Given the description of an element on the screen output the (x, y) to click on. 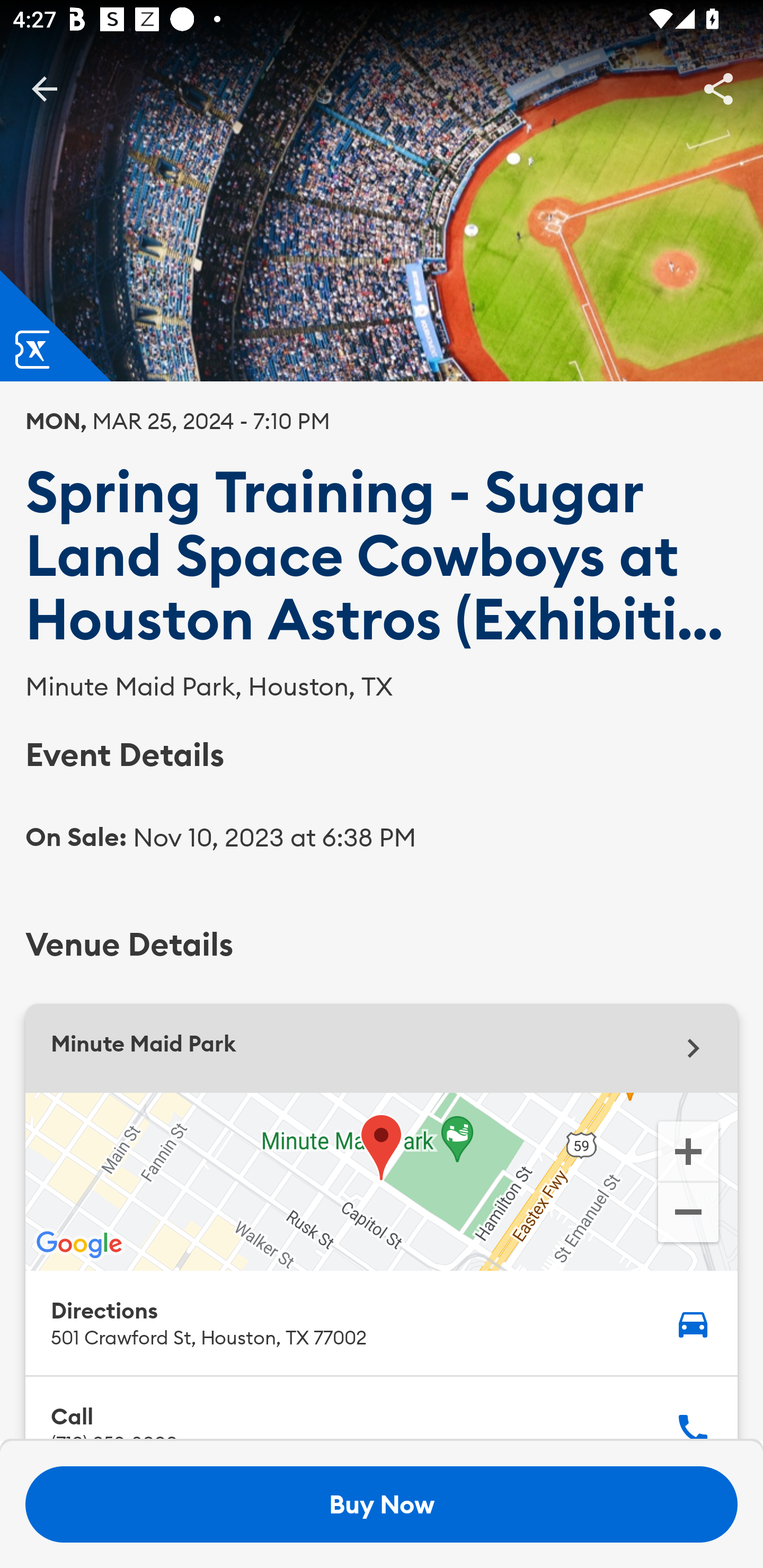
BackButton (44, 88)
Share (718, 88)
Minute Maid Park (381, 1047)
Google Map Minute Maid Park.  Zoom in Zoom out (381, 1181)
Zoom in (687, 1149)
Zoom out (687, 1214)
Directions 501 Crawford St, Houston, TX 77002 (381, 1322)
Call (713) 259-8000 (381, 1408)
Buy Now (381, 1504)
